Given the description of an element on the screen output the (x, y) to click on. 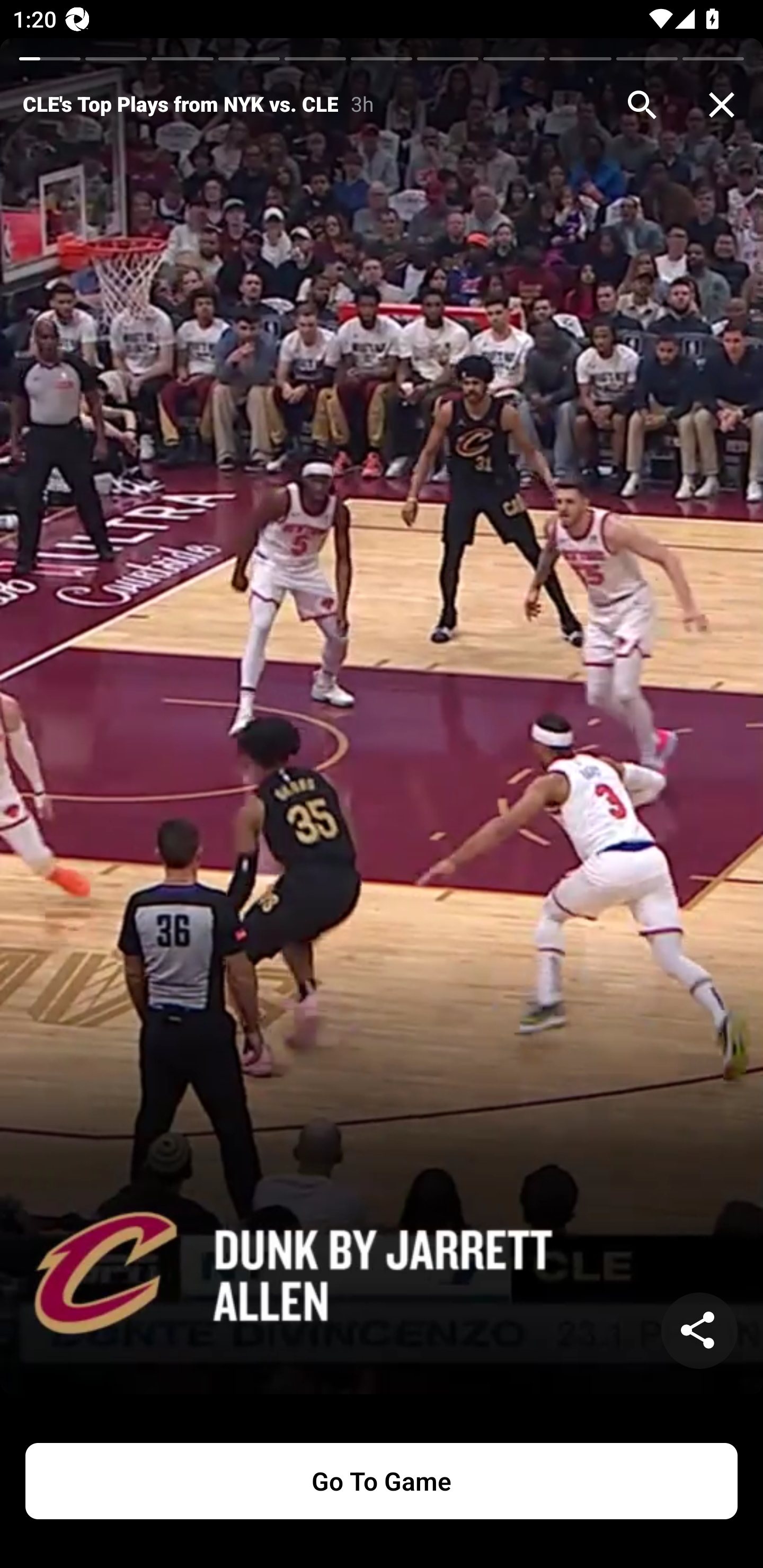
search (642, 104)
close (721, 104)
share (699, 1330)
Go To Game (381, 1480)
